Given the description of an element on the screen output the (x, y) to click on. 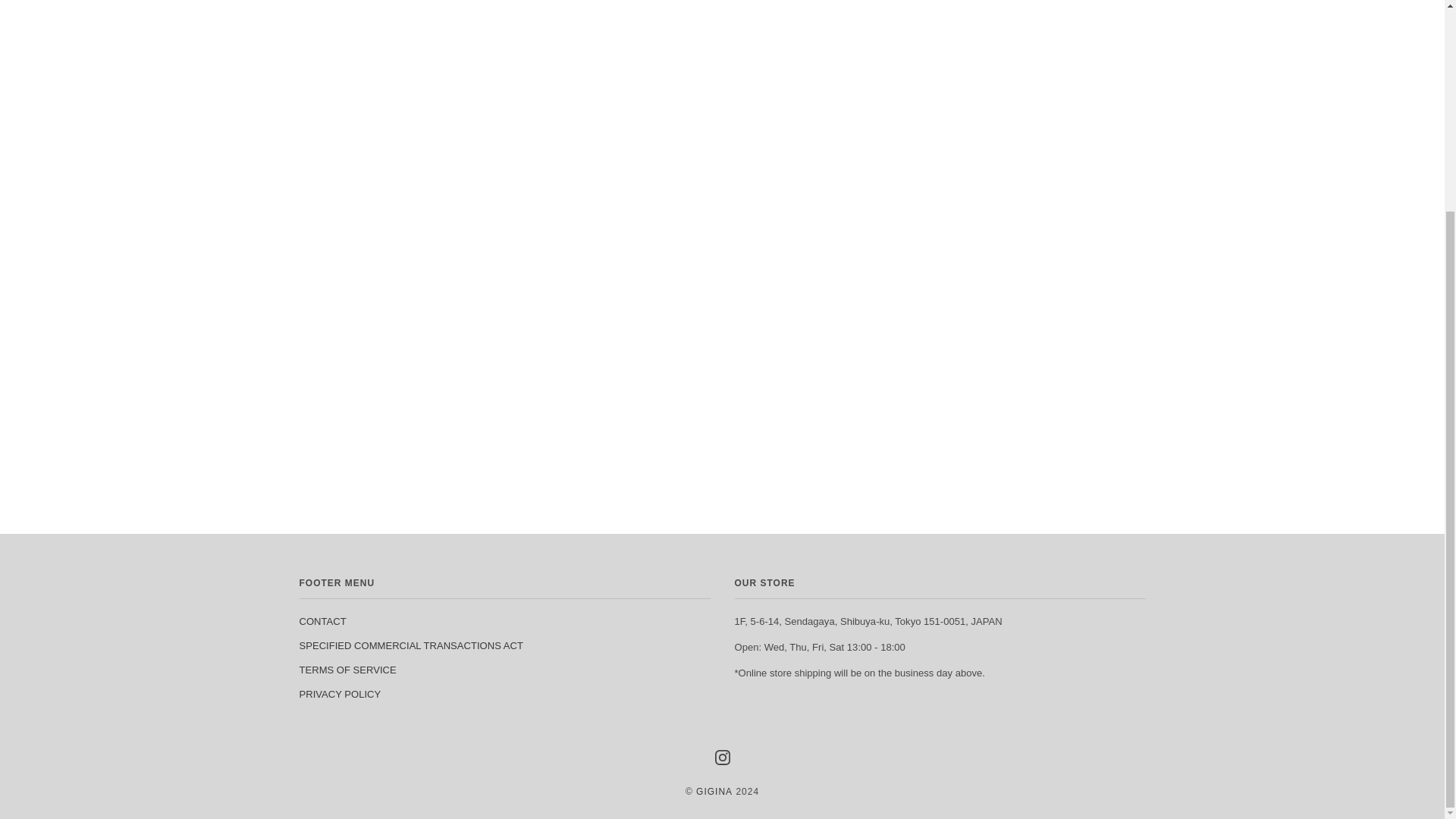
Instagram (721, 757)
